Given the description of an element on the screen output the (x, y) to click on. 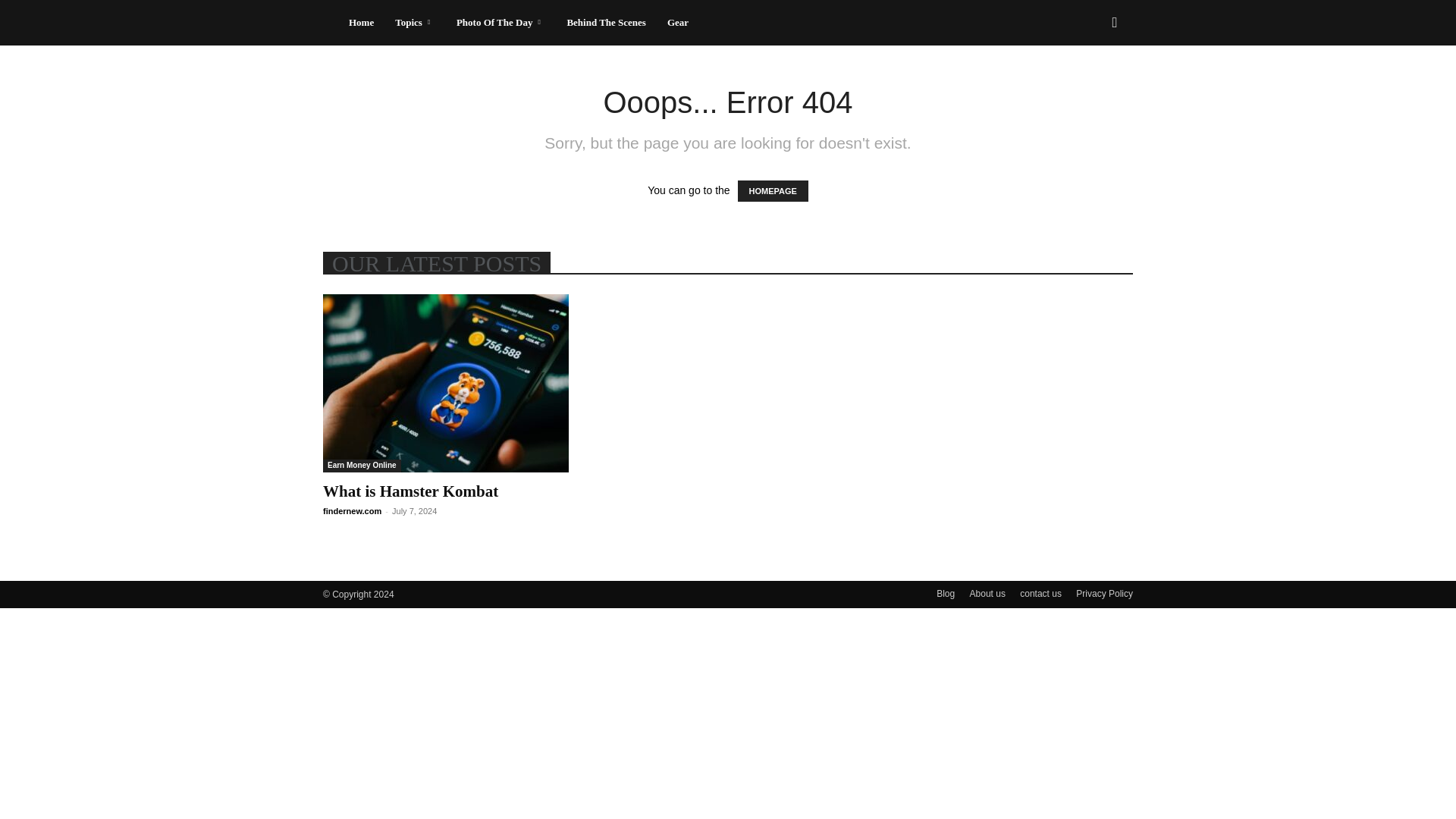
Photo Of The Day (500, 22)
What is Hamster Kombat (410, 491)
Gear (677, 22)
Blog (945, 593)
Topics (414, 22)
What is Hamster Kombat (410, 491)
Home (360, 22)
Search (1091, 87)
About us (987, 593)
Privacy Policy (1103, 593)
